Given the description of an element on the screen output the (x, y) to click on. 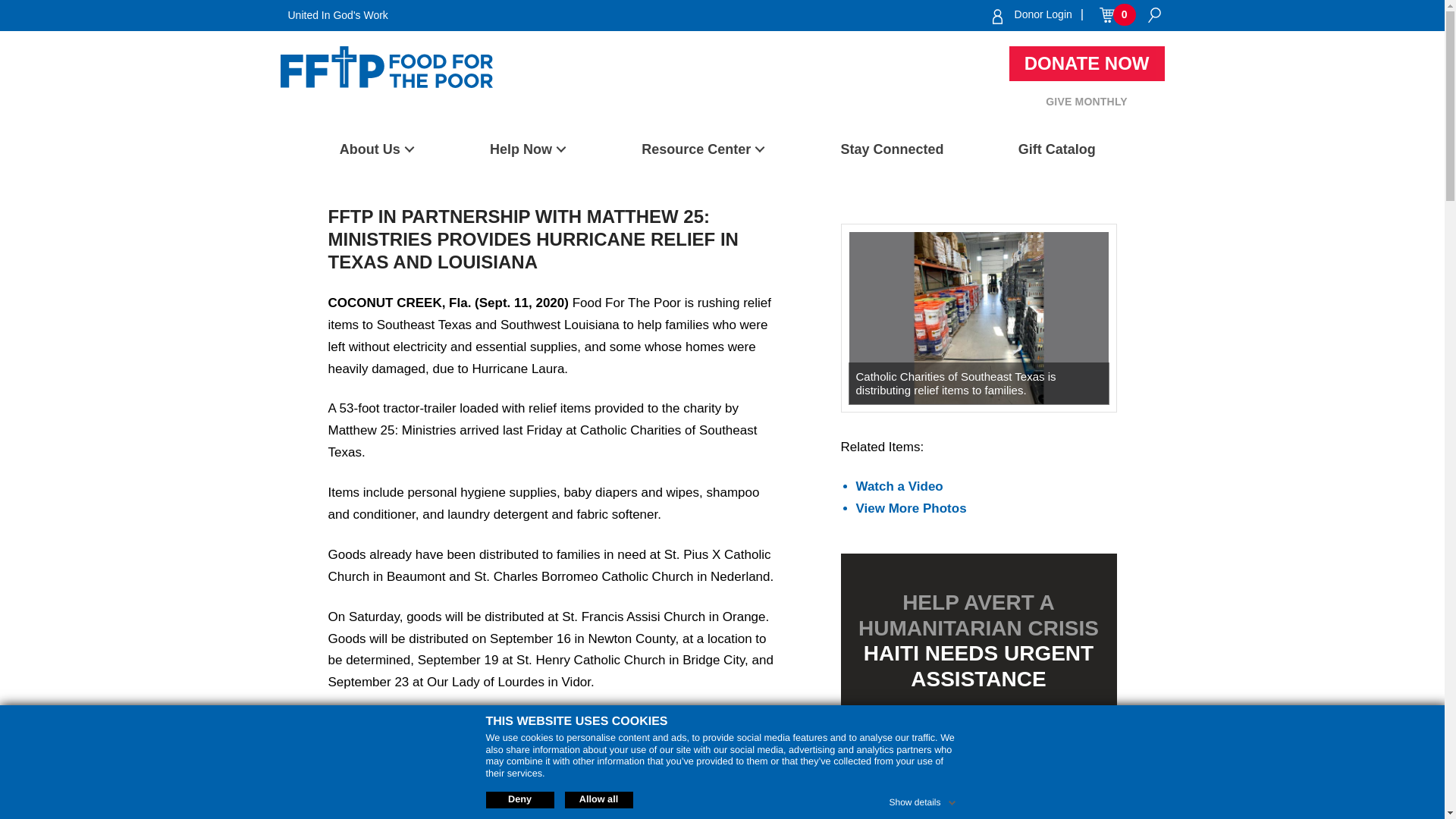
Allow all (597, 799)
Deny (518, 799)
Show details (923, 799)
